Given the description of an element on the screen output the (x, y) to click on. 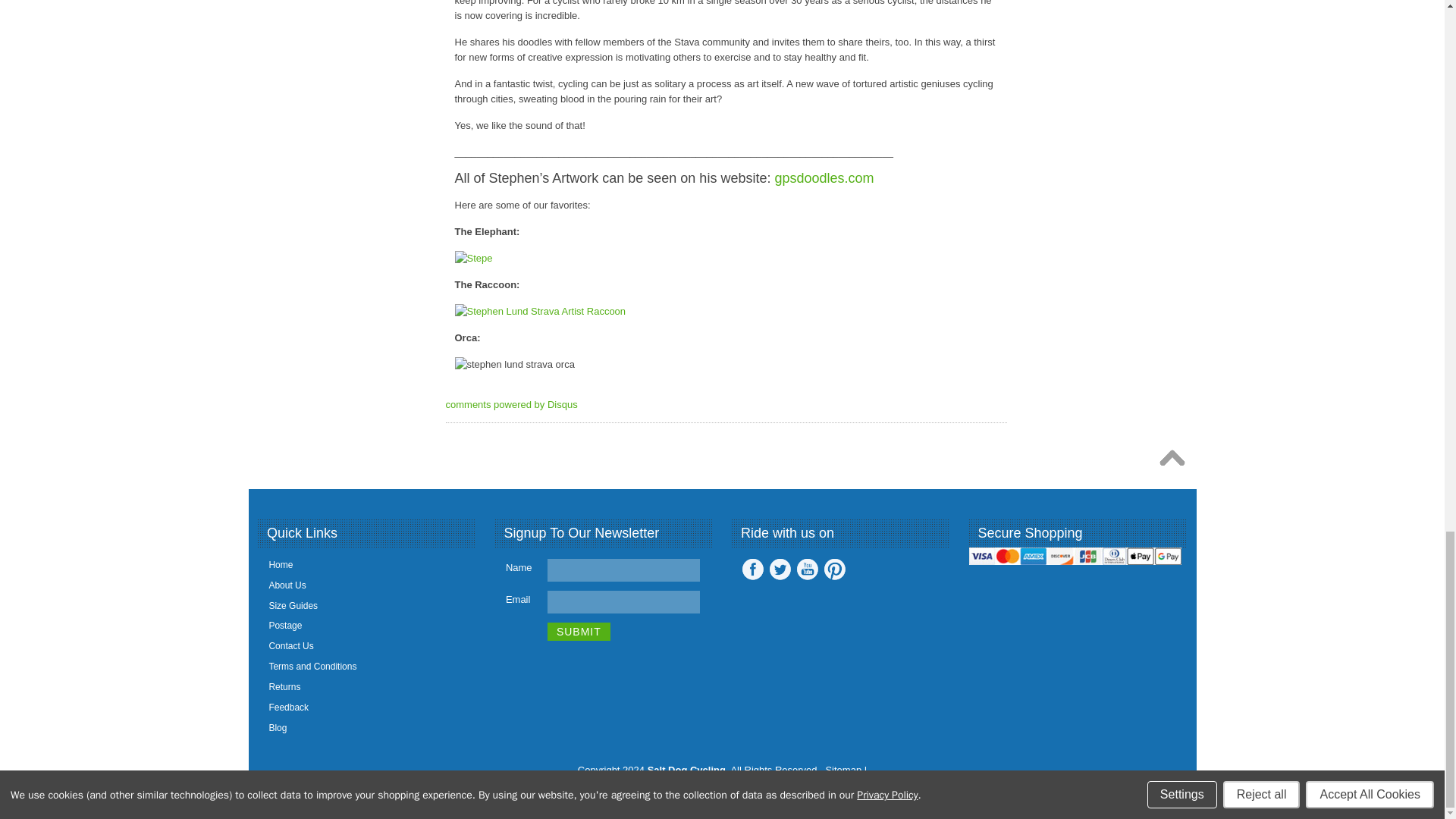
Twitter (780, 568)
Facebook (752, 568)
Submit (578, 631)
Pinterest (834, 568)
YouTube (807, 568)
Scroll to Top (1175, 461)
